Given the description of an element on the screen output the (x, y) to click on. 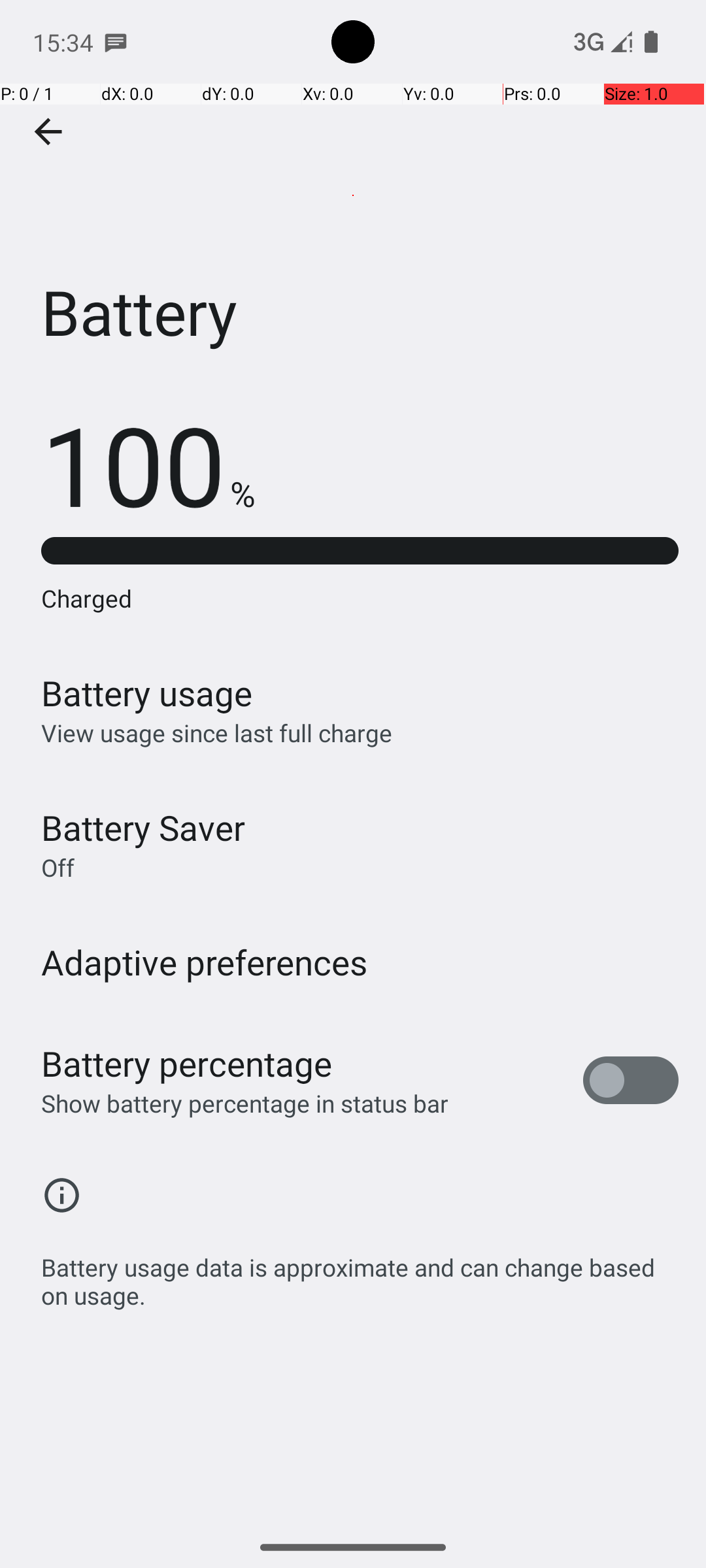
100 % Element type: android.widget.TextView (147, 463)
Charged Element type: android.widget.TextView (359, 597)
Battery usage Element type: android.widget.TextView (146, 692)
View usage since last full charge Element type: android.widget.TextView (216, 732)
Battery Saver Element type: android.widget.TextView (143, 827)
Adaptive preferences Element type: android.widget.TextView (204, 961)
Battery percentage Element type: android.widget.TextView (186, 1063)
Show battery percentage in status bar Element type: android.widget.TextView (244, 1102)
Battery usage data is approximate and can change based on usage. Element type: android.widget.TextView (359, 1274)
